Given the description of an element on the screen output the (x, y) to click on. 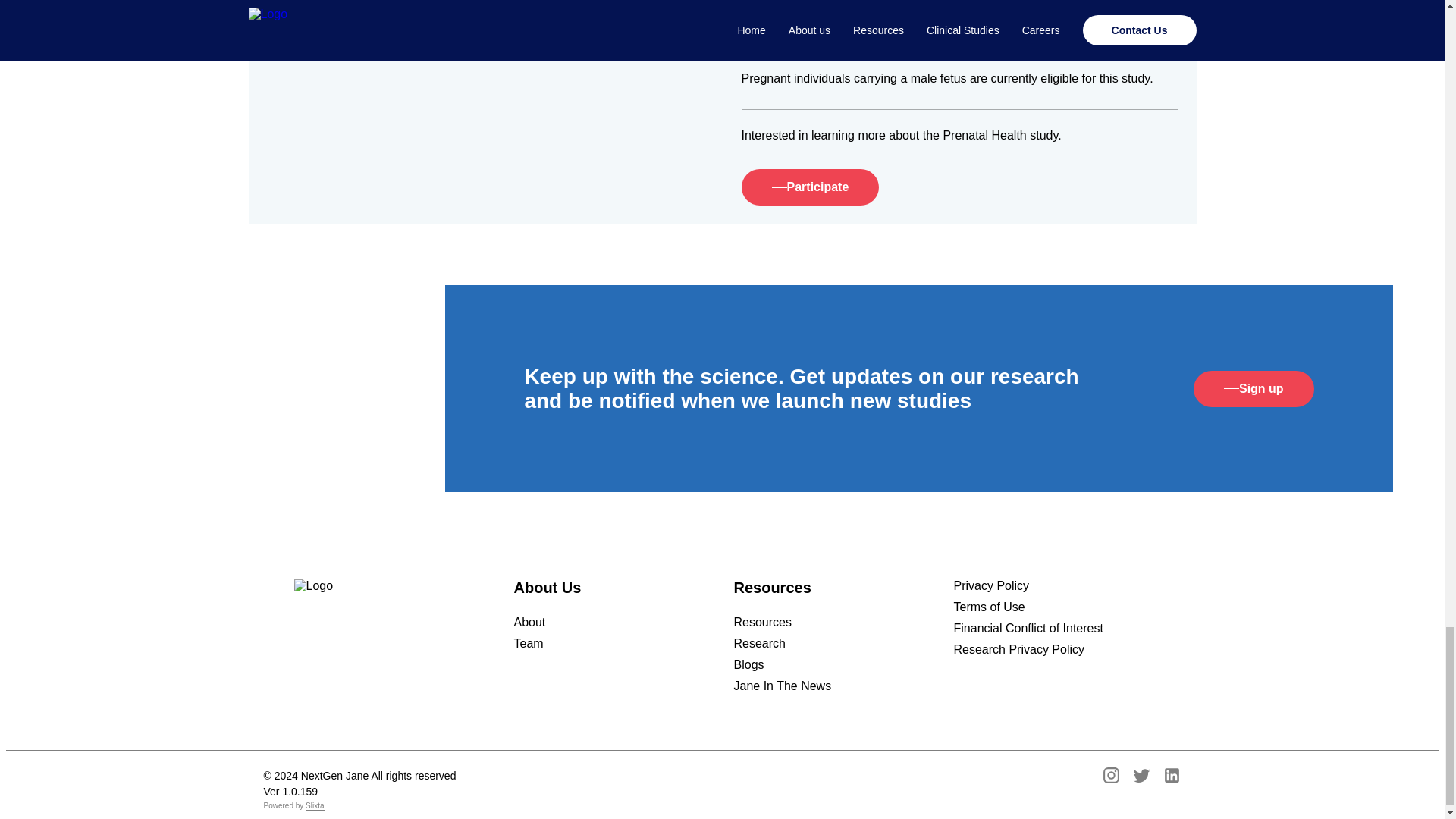
Research Privacy Policy (1018, 649)
Blogs (748, 664)
Privacy Policy (991, 585)
Sign up (1214, 388)
About (529, 622)
Sign up (1253, 389)
Powered by Slixta (360, 805)
Financial Conflict of Interest (1028, 628)
Team (528, 643)
Terms of Use (989, 607)
Research (759, 643)
Resources (762, 622)
Jane In The News (782, 685)
Participate (810, 186)
